Given the description of an element on the screen output the (x, y) to click on. 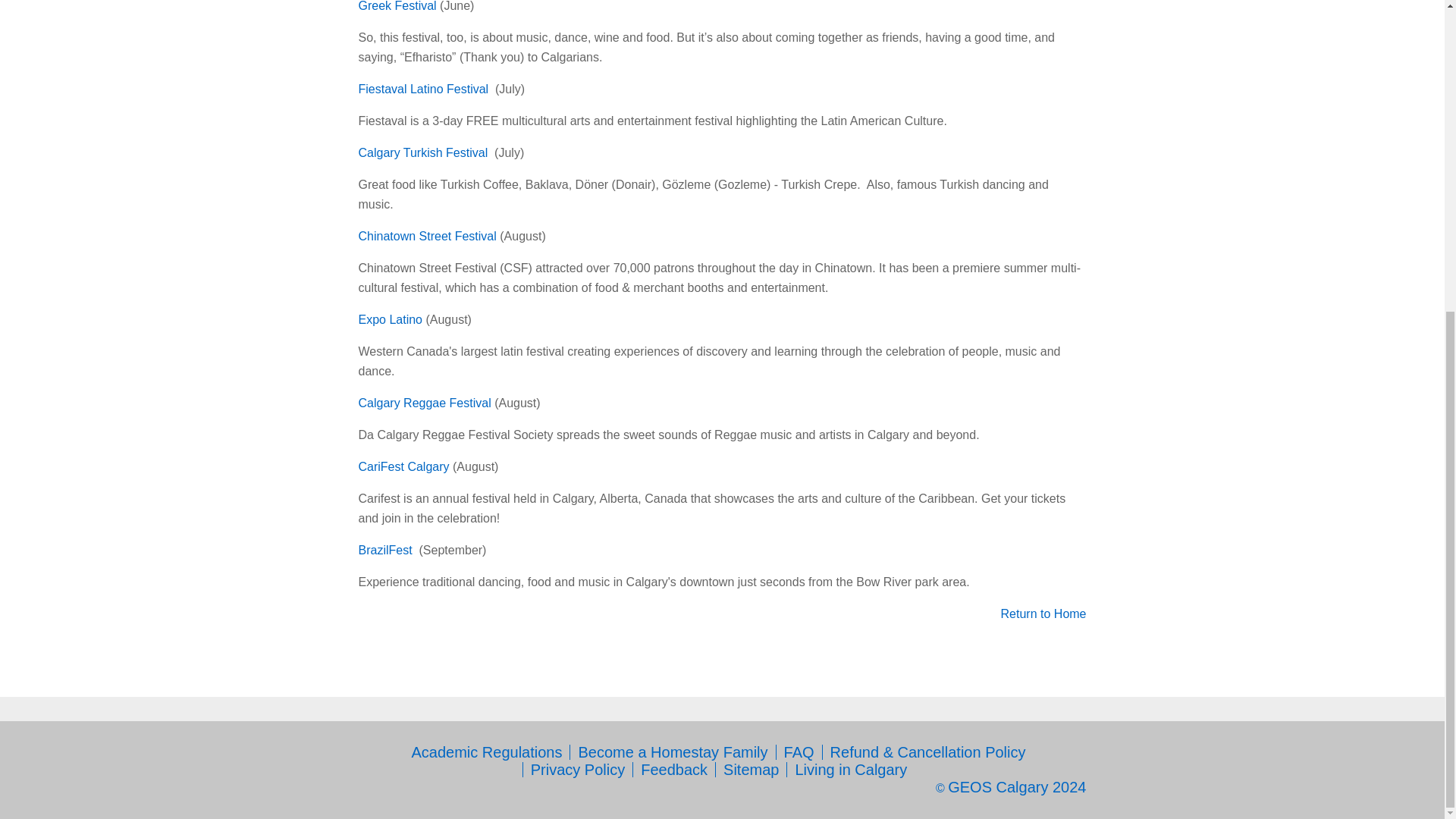
BrazilFest (385, 549)
Living in Calgary (850, 769)
CariFest Calgary (403, 466)
Expo Latino (390, 318)
Academic Regulations (486, 751)
Feedback (673, 769)
Greek Festival (396, 6)
Become a Homestay Family (672, 751)
Living in Calgary (850, 769)
Privacy Policy (577, 769)
Fiestaval Latino Festival (422, 88)
FAQ (798, 751)
Expo Latino (390, 318)
Feedback (673, 769)
Sitemap (750, 769)
